Given the description of an element on the screen output the (x, y) to click on. 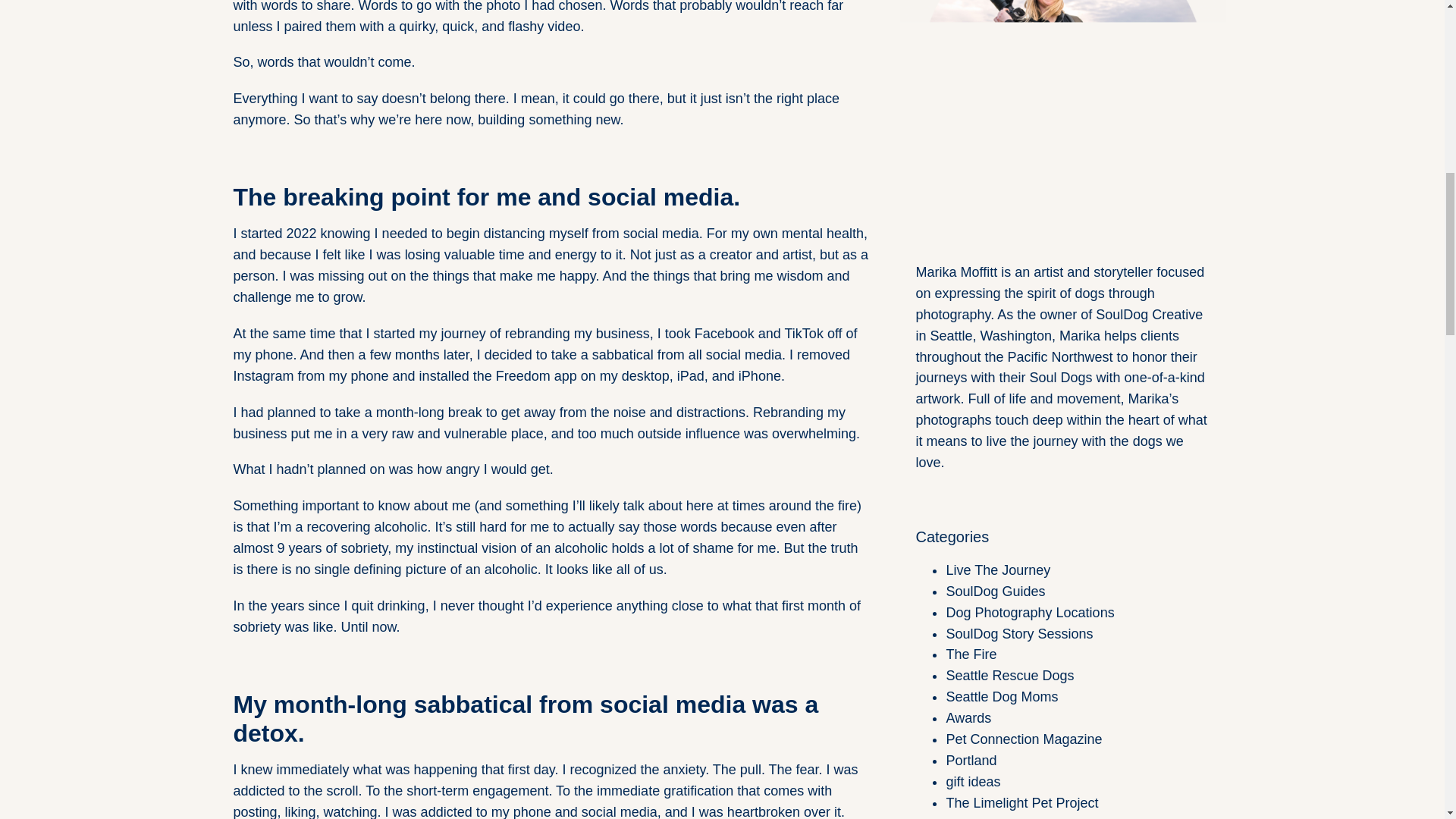
The Limelight Pet Project (1020, 802)
Pet Connection Magazine (1023, 739)
SoulDog Guides (994, 590)
Portland (969, 760)
Seattle Rescue Dogs (1009, 675)
Live The Journey (996, 570)
gift ideas (972, 781)
SoulDog Story Sessions (1018, 633)
Awards (967, 717)
Dog Photography Locations (1028, 612)
Seattle Dog Moms (1001, 696)
The Fire (969, 654)
Fall (956, 817)
